Given the description of an element on the screen output the (x, y) to click on. 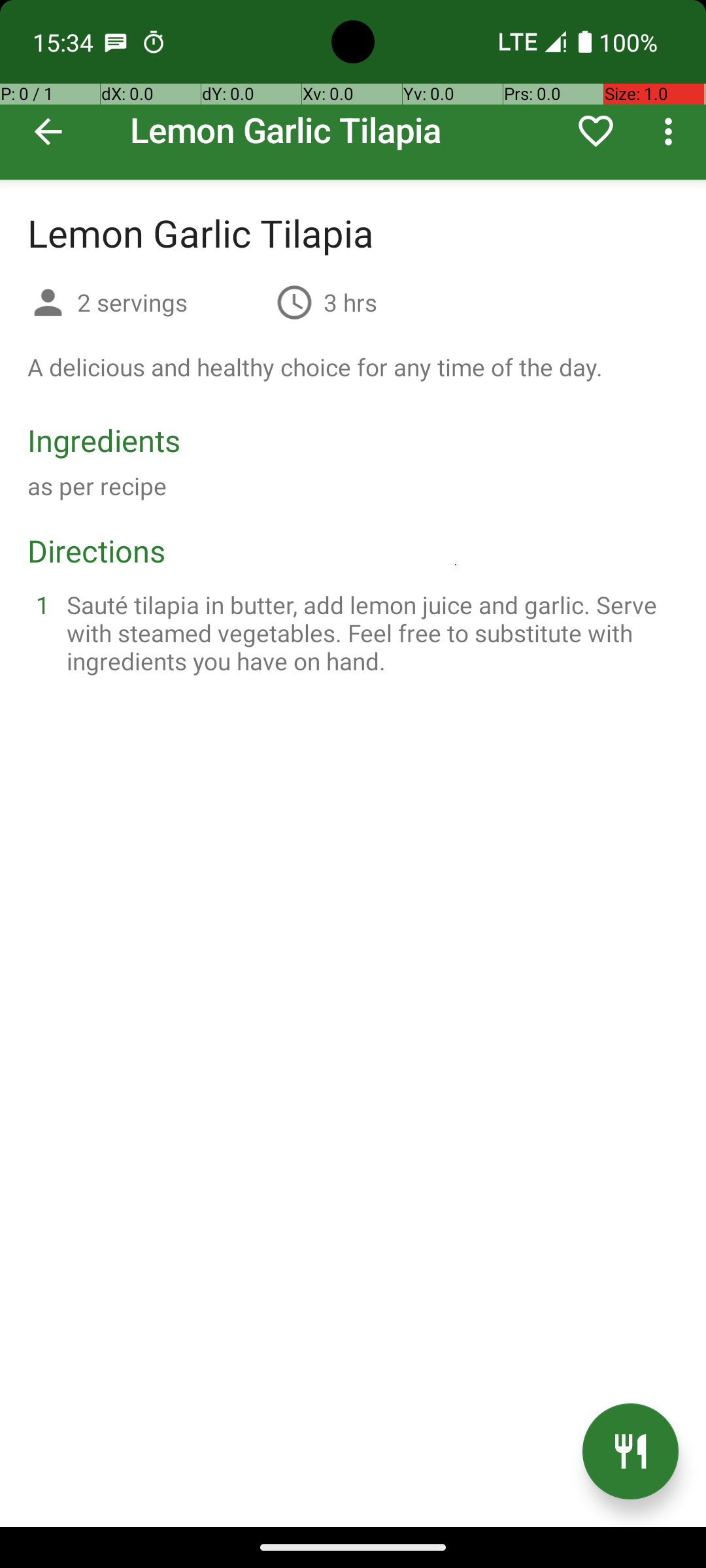
Sauté tilapia in butter, add lemon juice and garlic. Serve with steamed vegetables. Feel free to substitute with ingredients you have on hand. Element type: android.widget.TextView (368, 632)
